Given the description of an element on the screen output the (x, y) to click on. 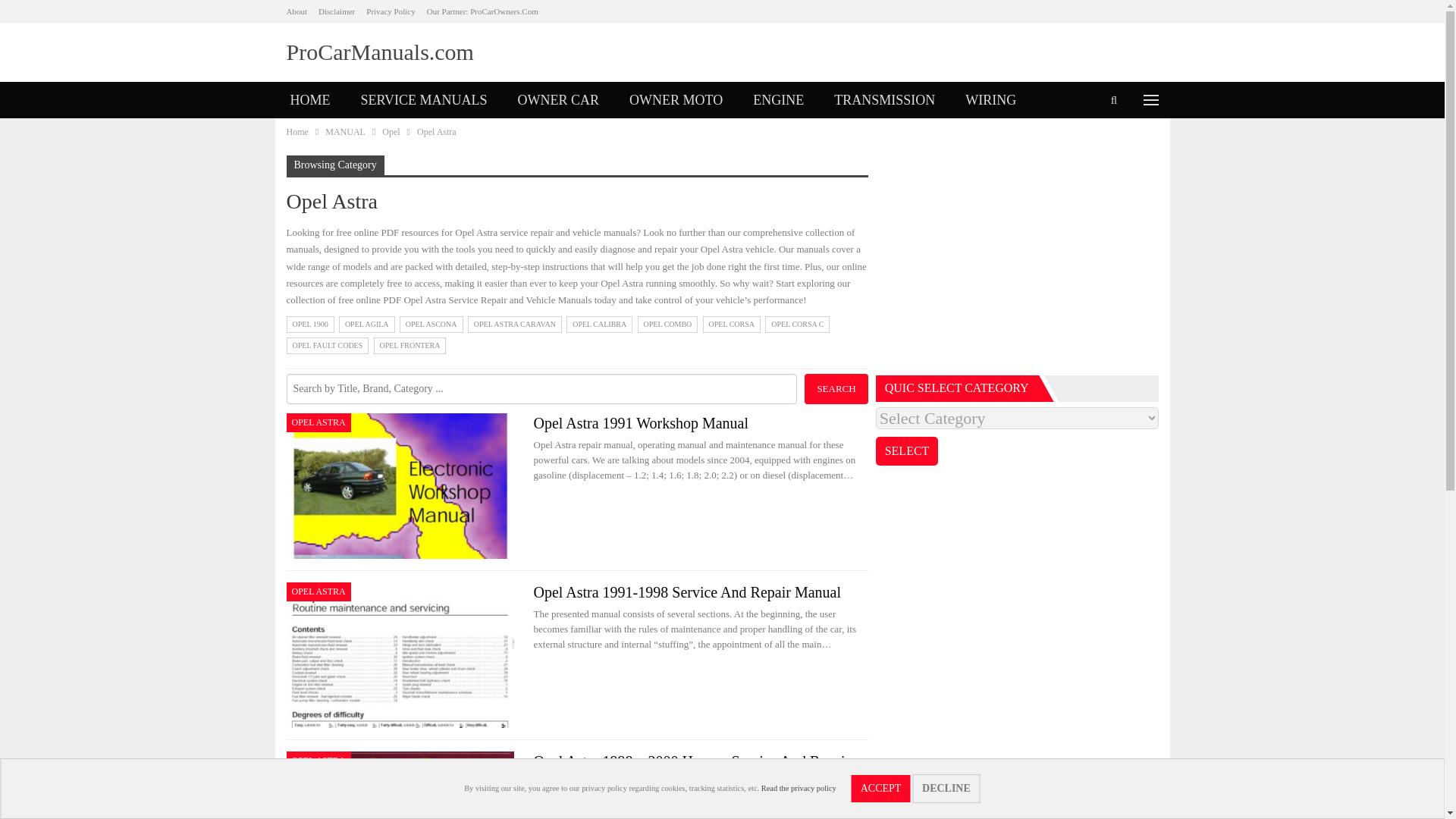
OPEL 1900 (310, 324)
ACCEPT (881, 788)
Opel (389, 131)
Advertisement (1017, 261)
VAG SSP (385, 135)
Opel Astra 1991 Workshop Manual (399, 485)
OPEL COMBO (667, 324)
Our Partner: ProCarOwners.Com (482, 10)
OPEL ASCONA (430, 324)
Home (297, 131)
Read the privacy policy (798, 787)
BODY (309, 135)
HOME (310, 99)
DECLINE (945, 788)
ENGINE (778, 99)
